Given the description of an element on the screen output the (x, y) to click on. 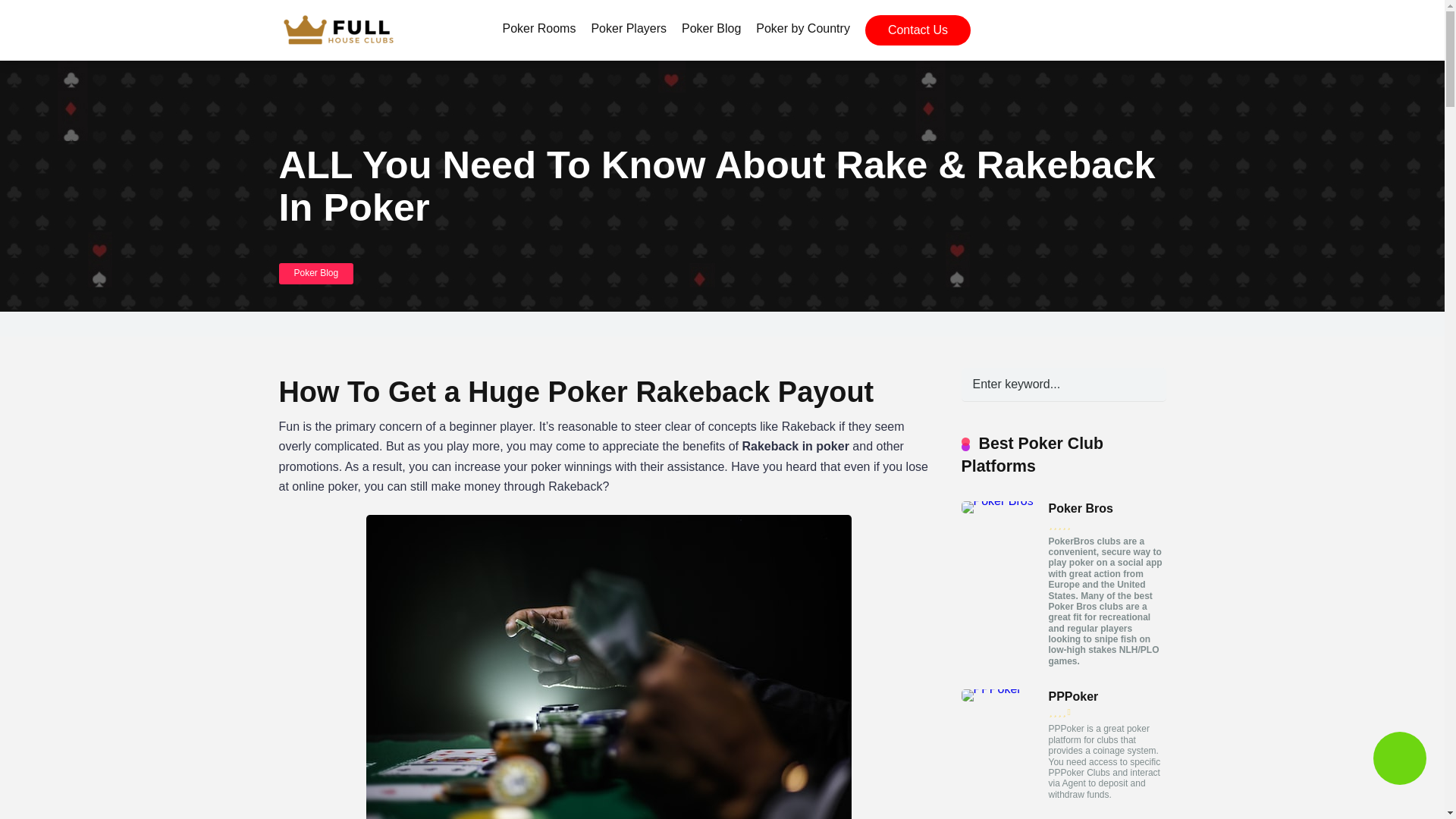
Poker Blog (316, 272)
Poker Players (628, 29)
Contact Us (917, 30)
Poker Blog (711, 29)
PPPoker (1072, 696)
Poker Bros (1080, 508)
Full House Clubs (344, 24)
ClubGG Poker (1004, 817)
PPPoker (991, 688)
Poker Rooms (539, 29)
Poker Bros (996, 500)
Poker by Country (802, 29)
